Given the description of an element on the screen output the (x, y) to click on. 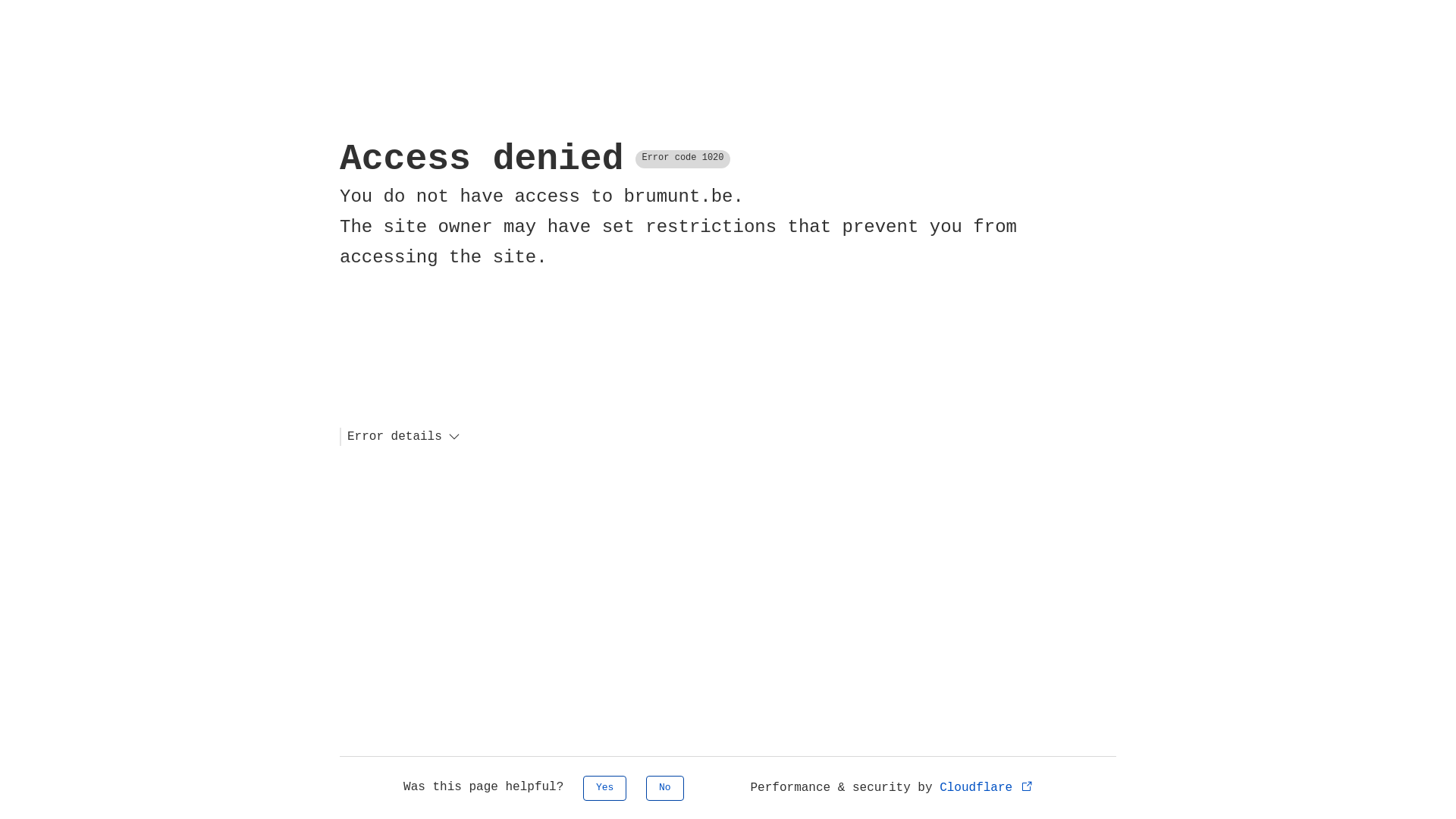
No Element type: text (665, 787)
Yes Element type: text (604, 787)
Cloudflare Element type: text (986, 787)
Opens in new tab Element type: hover (1027, 785)
